Given the description of an element on the screen output the (x, y) to click on. 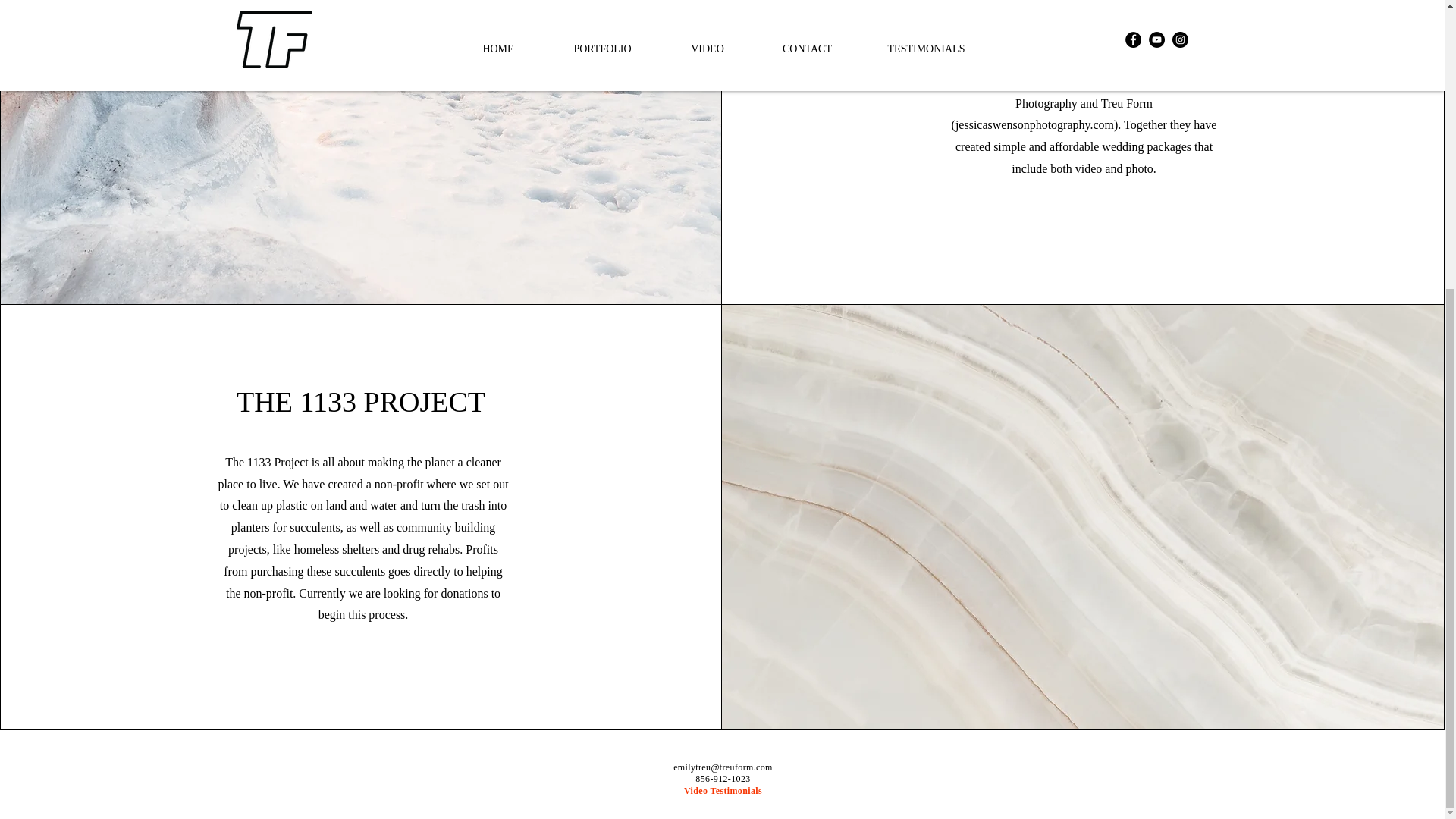
jessicaswensonphotography.com (1034, 124)
Video Testimonials (722, 790)
